Given the description of an element on the screen output the (x, y) to click on. 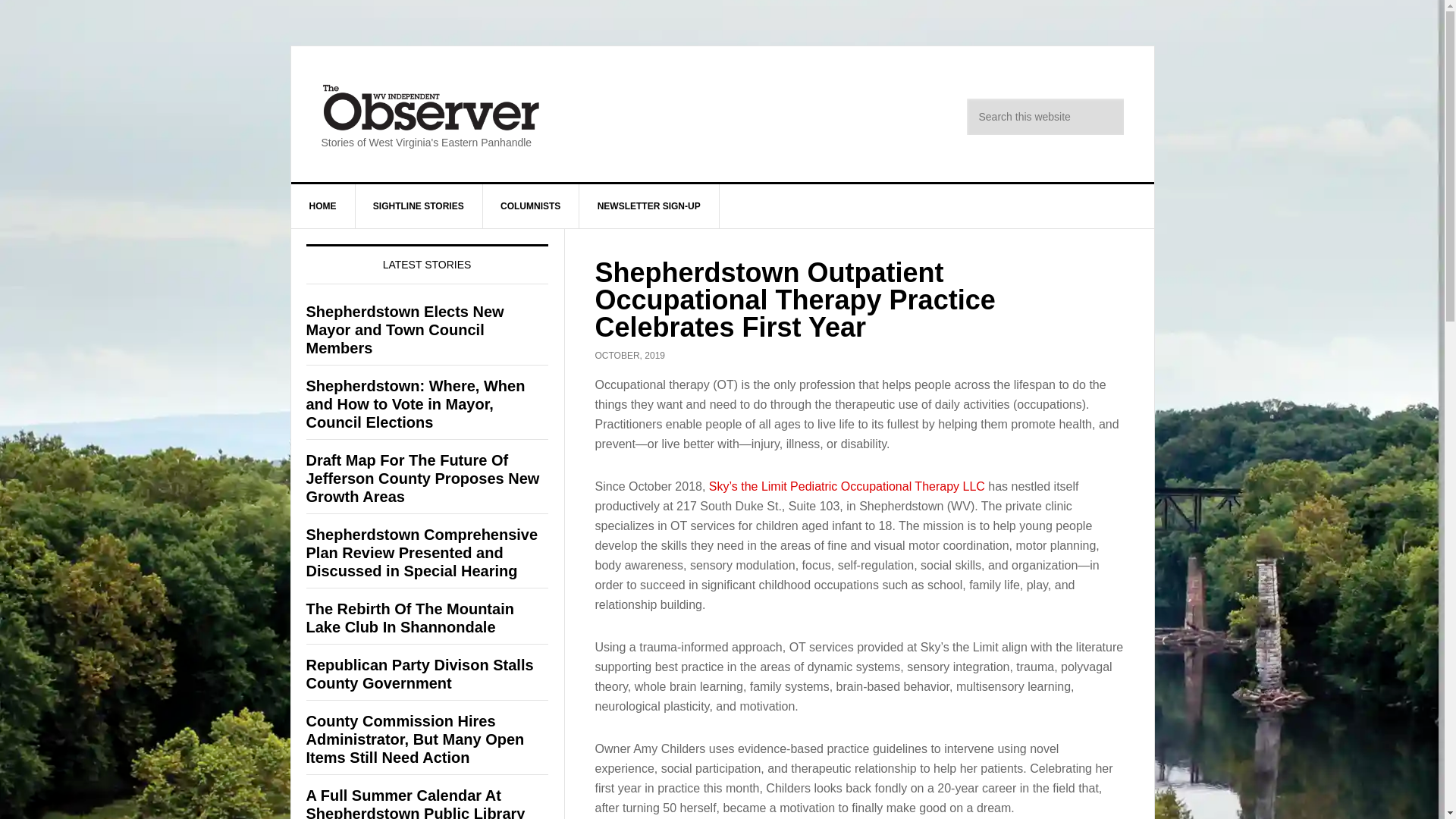
Republican Party Divison Stalls County Government (419, 673)
The Rebirth Of The Mountain Lake Club In Shannondale (409, 617)
SIGHTLINE STORIES (419, 206)
Republican Party Divison Stalls County Government (419, 673)
COLUMNISTS (530, 206)
THE OBSERVER (431, 108)
Shepherdstown Elects New Mayor and Town Council Members (404, 329)
Shepherdstown Elects New Mayor and Town Council Members (404, 329)
